Given the description of an element on the screen output the (x, y) to click on. 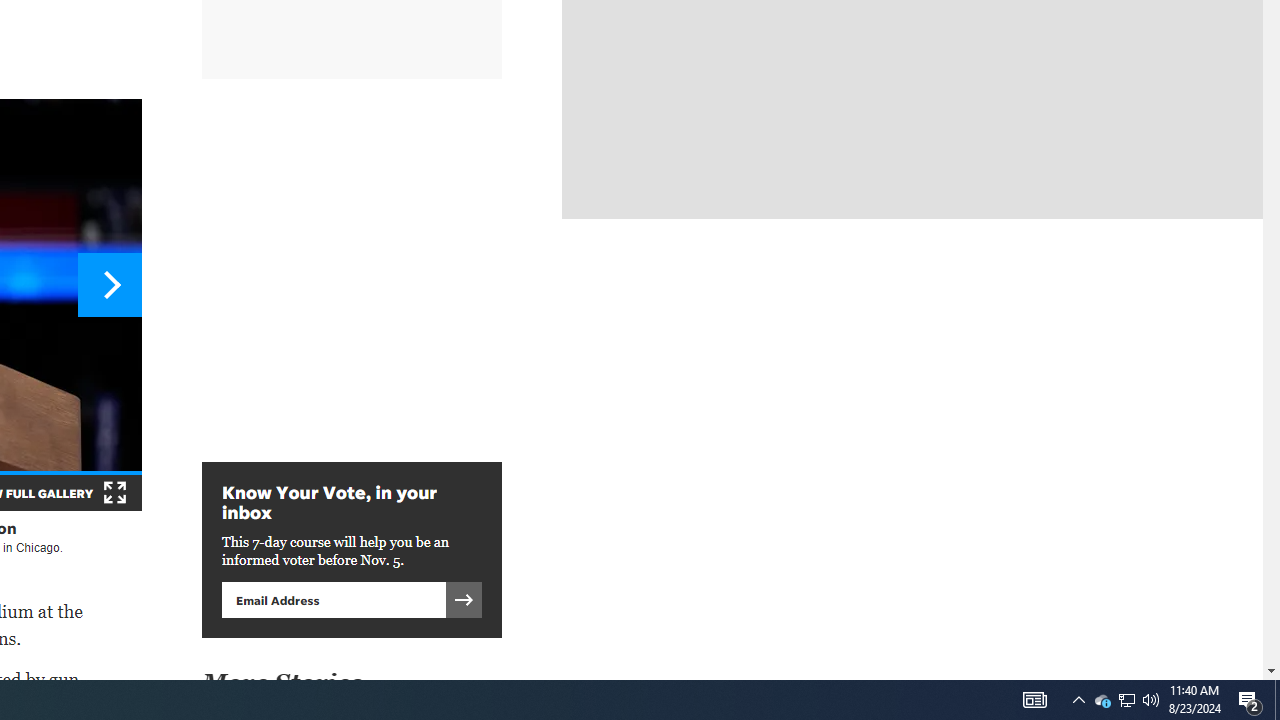
Submit to sign up for newsletter (463, 599)
Email address (333, 599)
